Given the description of an element on the screen output the (x, y) to click on. 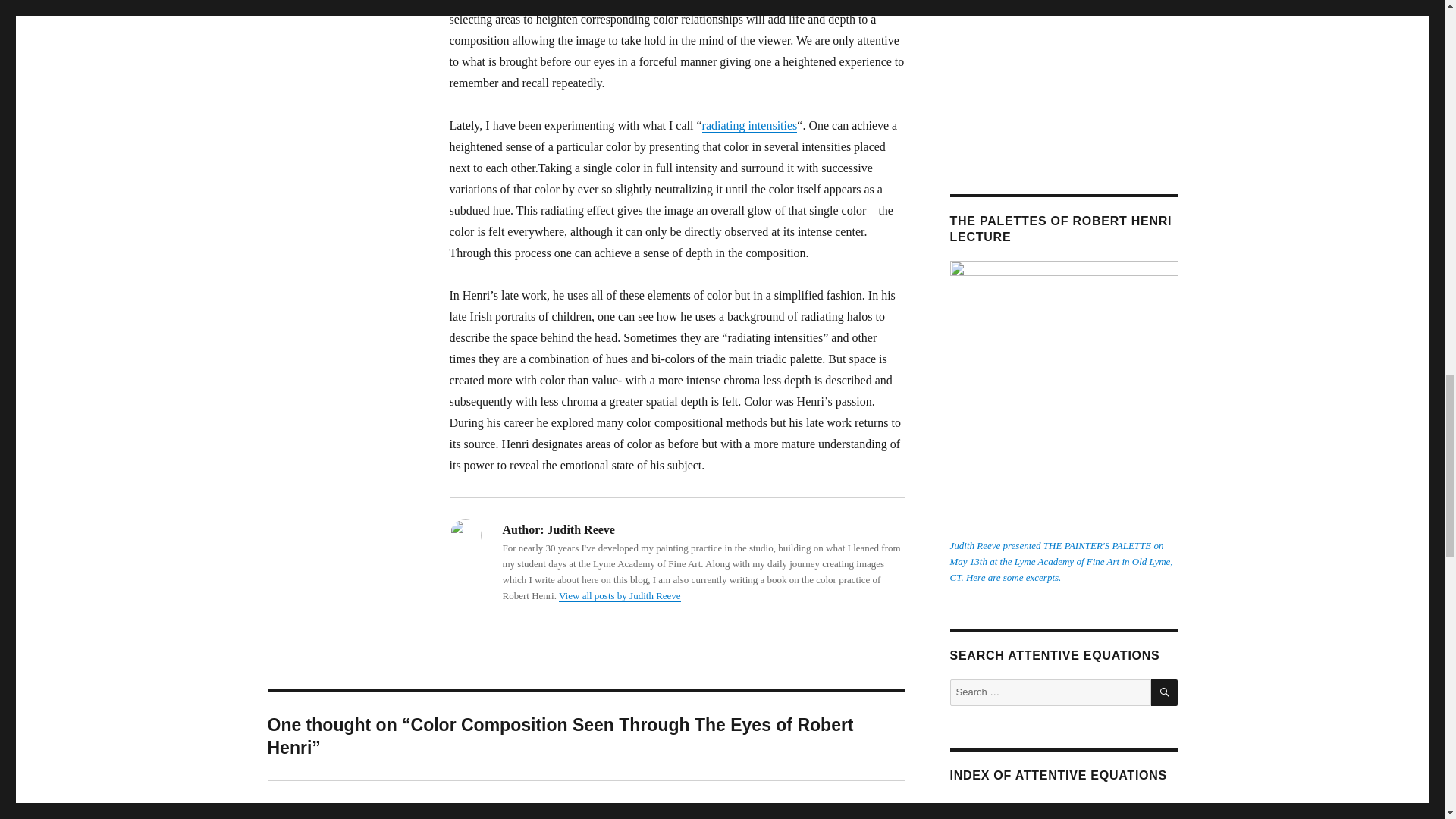
Attentive Equations Portfolio (1062, 75)
Index of Philosophers, Poets and Painters (1043, 806)
INDEX OF ATTENTIVE EQUATIONS (1058, 775)
radiating intensities (749, 124)
Francene Houben (1062, 692)
SEARCH (354, 812)
colored edges (1164, 692)
View all posts by Judith Reeve (481, 2)
SEARCH ATTENTIVE EQUATIONS (620, 595)
